Given the description of an element on the screen output the (x, y) to click on. 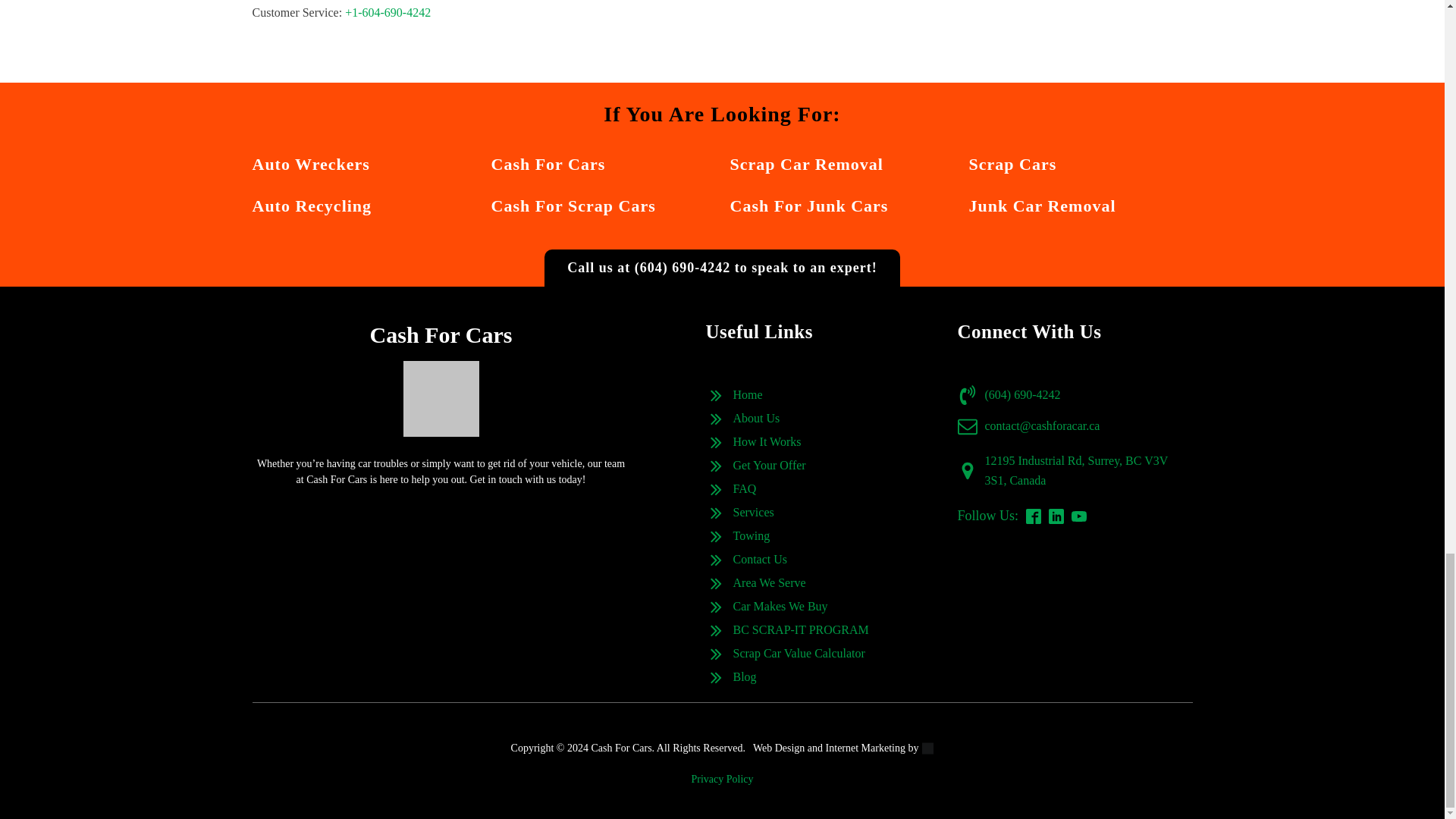
About Us (755, 418)
Get Your Offer (768, 465)
How It Works (766, 442)
Blog (743, 677)
BC SCRAP-IT PROGRAM (799, 629)
Car Makes We Buy (779, 606)
Area We Serve (768, 582)
12195 Industrial Rd, Surrey, BC V3V 3S1, Canada (1088, 470)
Contact Us (759, 559)
Services (752, 512)
Towing (751, 536)
Home (746, 394)
Scrap Car Value Calculator (798, 653)
FAQ (743, 488)
Privacy Policy (721, 779)
